Given the description of an element on the screen output the (x, y) to click on. 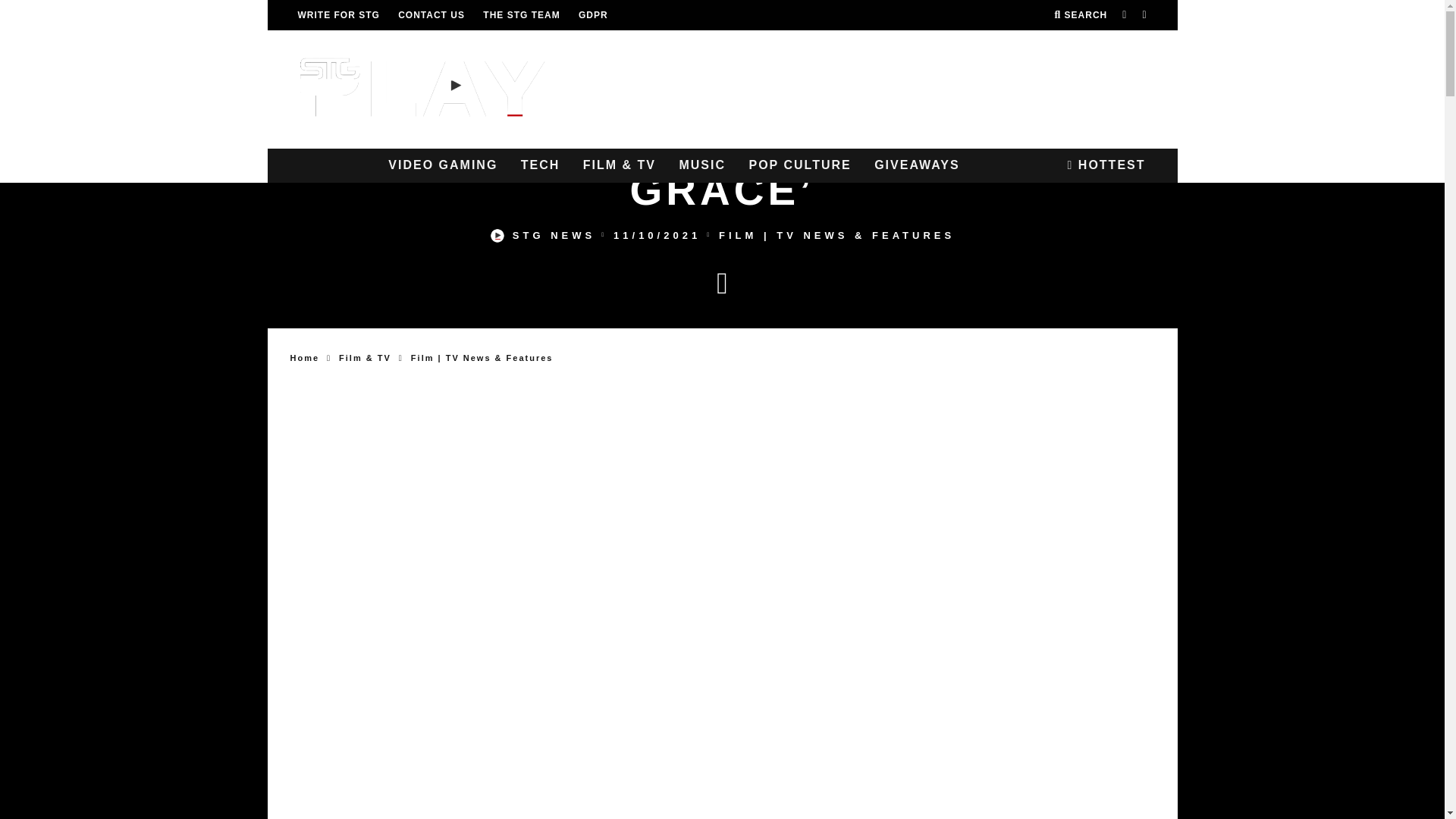
SEARCH (1080, 15)
THE STG TEAM (521, 15)
WRITE FOR STG (337, 15)
GDPR (593, 15)
Search (1080, 15)
CONTACT US (430, 15)
